Given the description of an element on the screen output the (x, y) to click on. 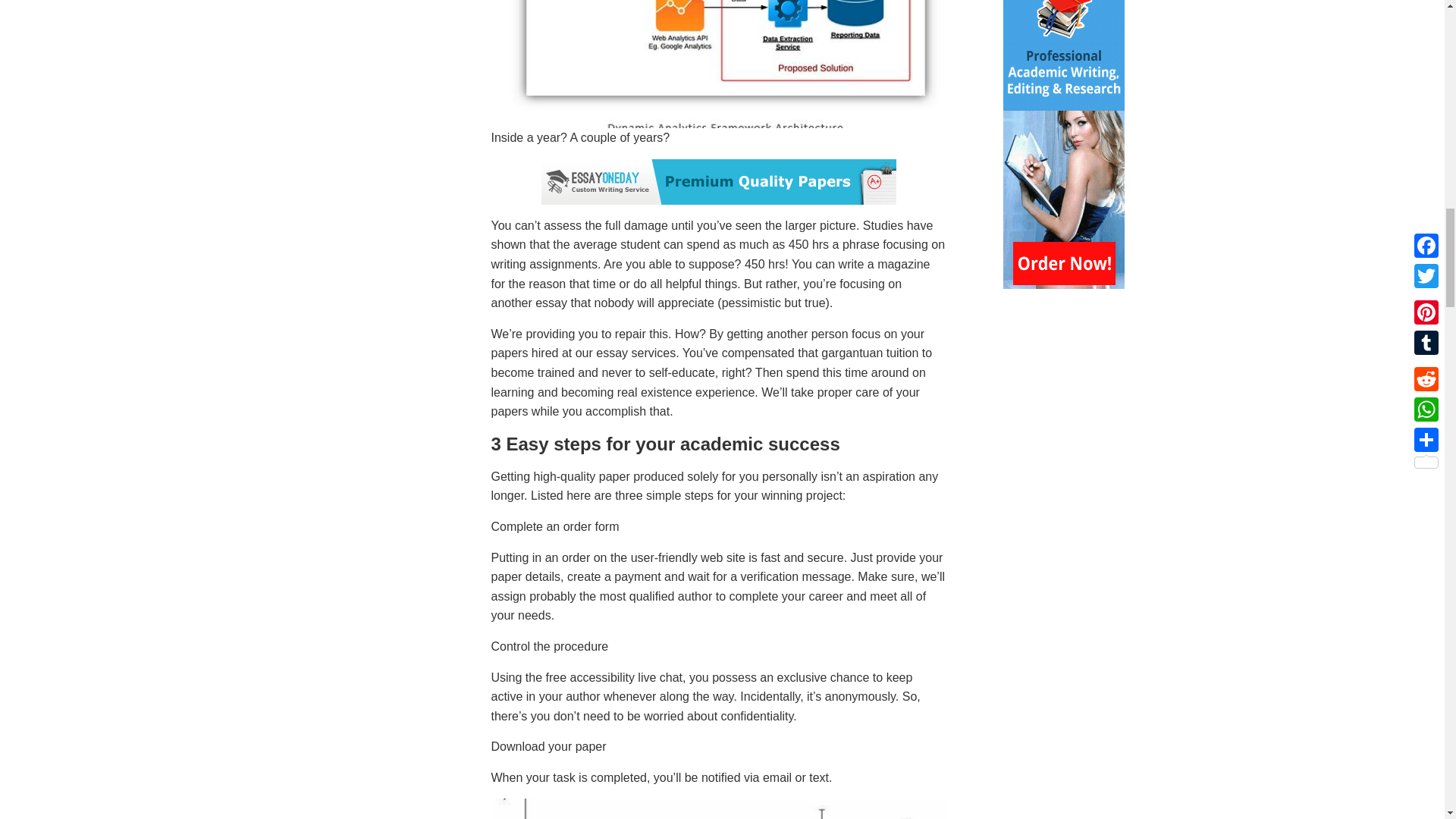
Web usage mining thesis proposal by experts (719, 63)
